Given the description of an element on the screen output the (x, y) to click on. 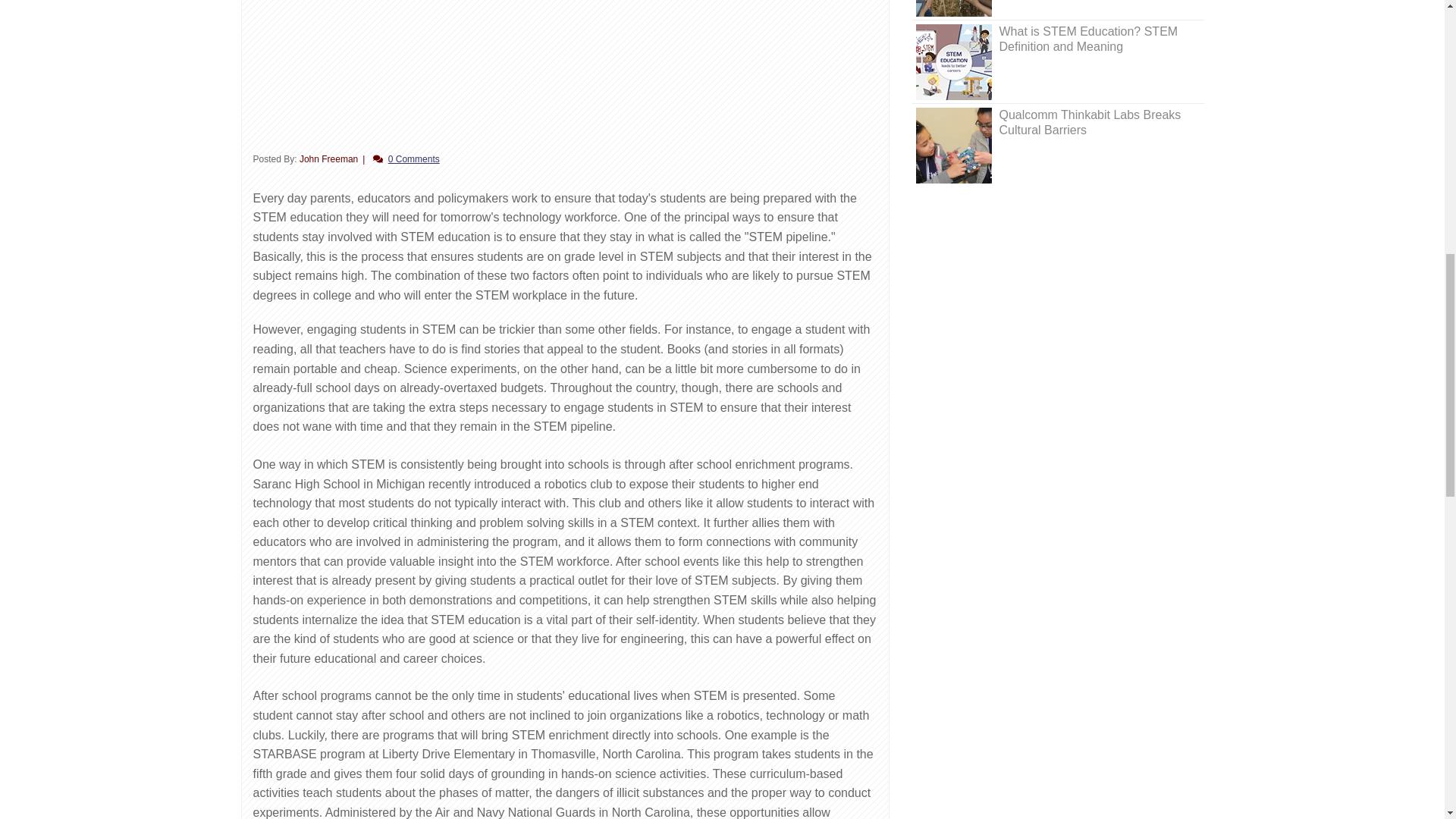
Qualcomm Thinkabit Labs Breaks Cultural Barriers (953, 145)
Onsite and Virtual Field Trips Add Value to STEM Education (953, 8)
What is STEM Education? STEM Definition and Meaning (953, 61)
0 Comments (413, 158)
